Given the description of an element on the screen output the (x, y) to click on. 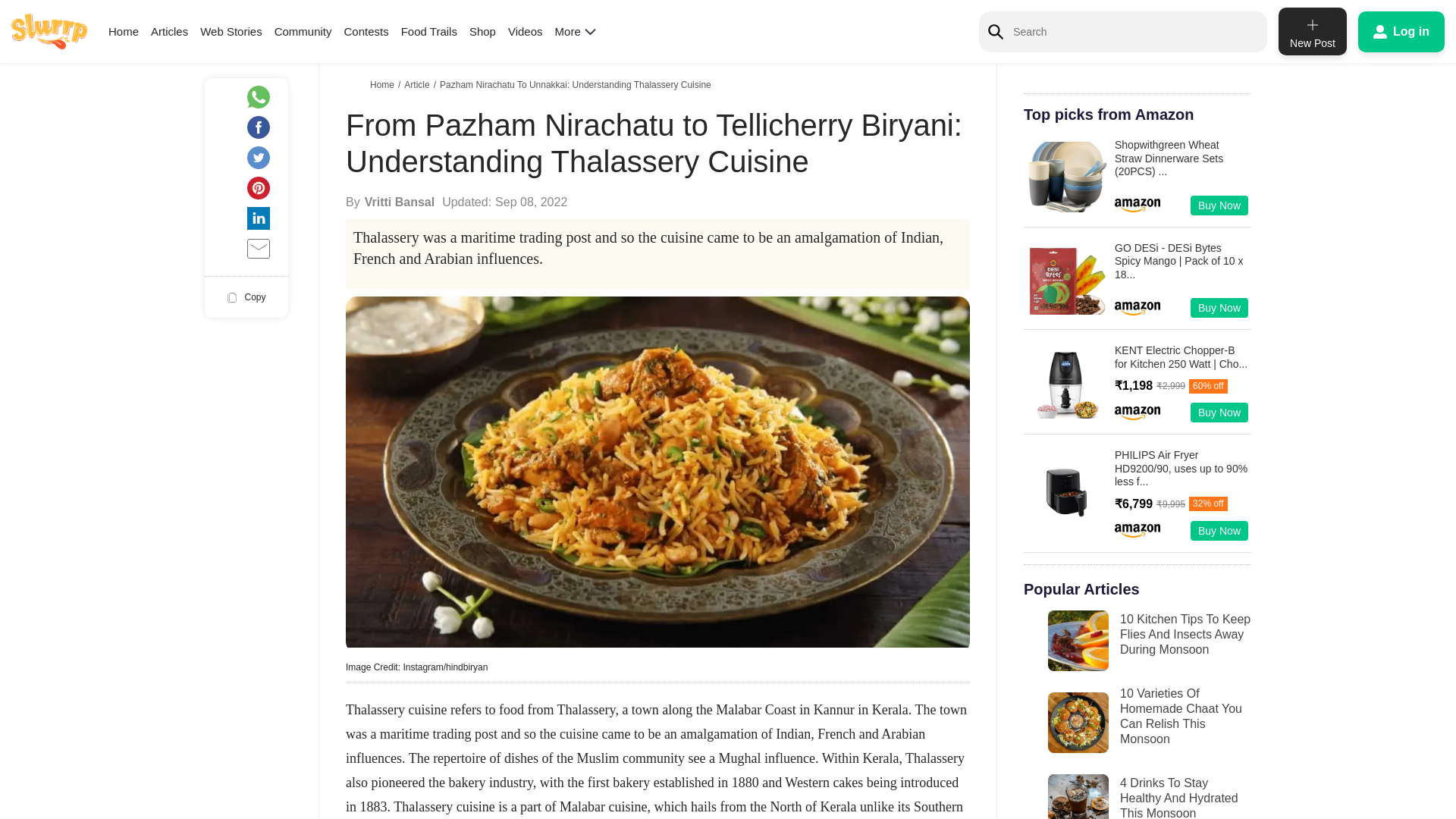
Log in (1401, 30)
Community (303, 31)
New Post (1312, 31)
Contests (365, 31)
Shop (482, 31)
Food Trails (429, 31)
user login (1401, 30)
Videos (525, 31)
Articles (169, 31)
Home (122, 31)
Web Stories (231, 31)
